Given the description of an element on the screen output the (x, y) to click on. 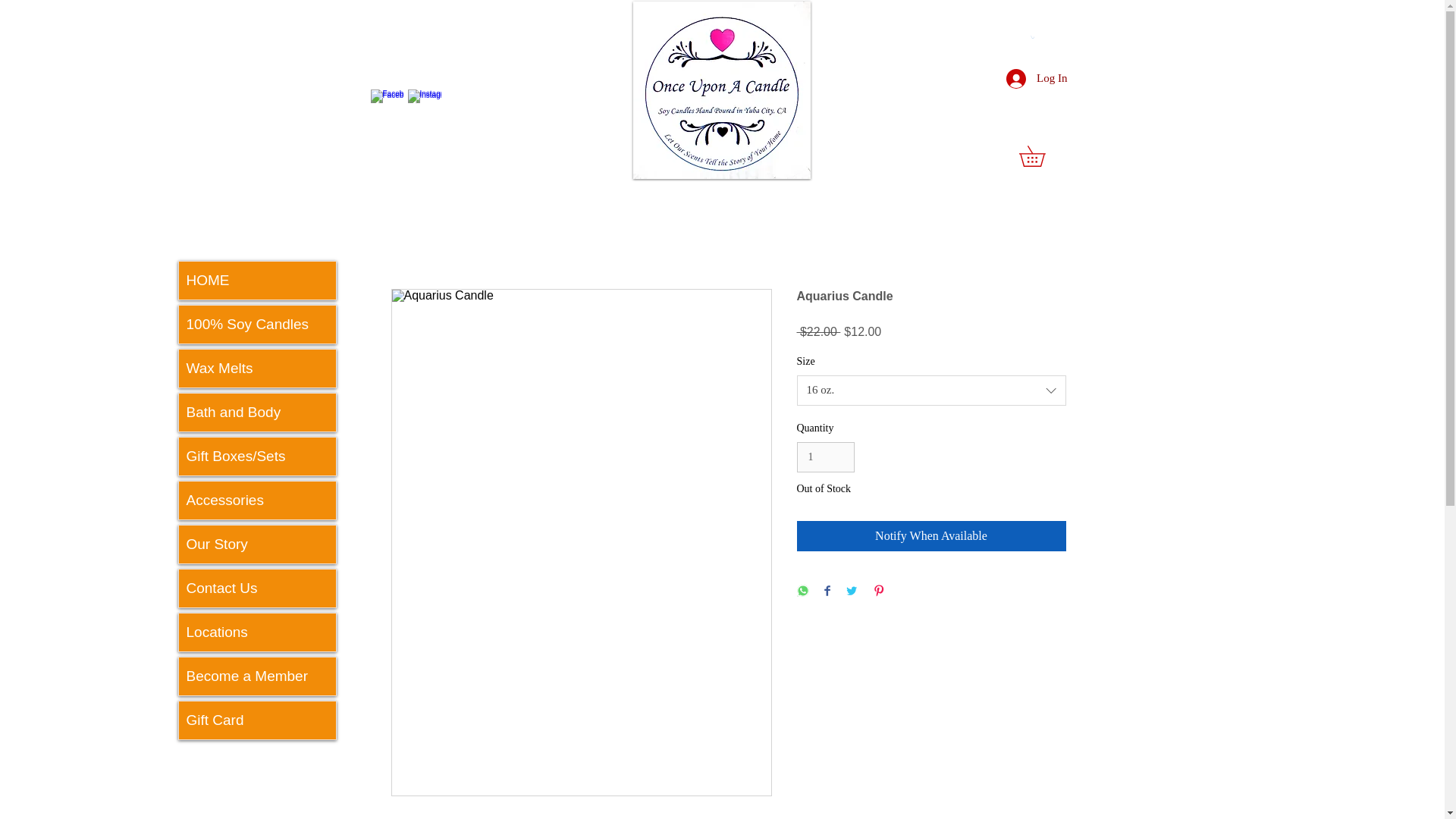
1 (824, 457)
Notify When Available (930, 535)
Accessories (257, 500)
Gift Card (257, 720)
16 oz. (930, 390)
Bath and Body (257, 412)
Locations (257, 632)
Wax Melts (257, 368)
Our Story (257, 544)
Contact Us (257, 588)
